Given the description of an element on the screen output the (x, y) to click on. 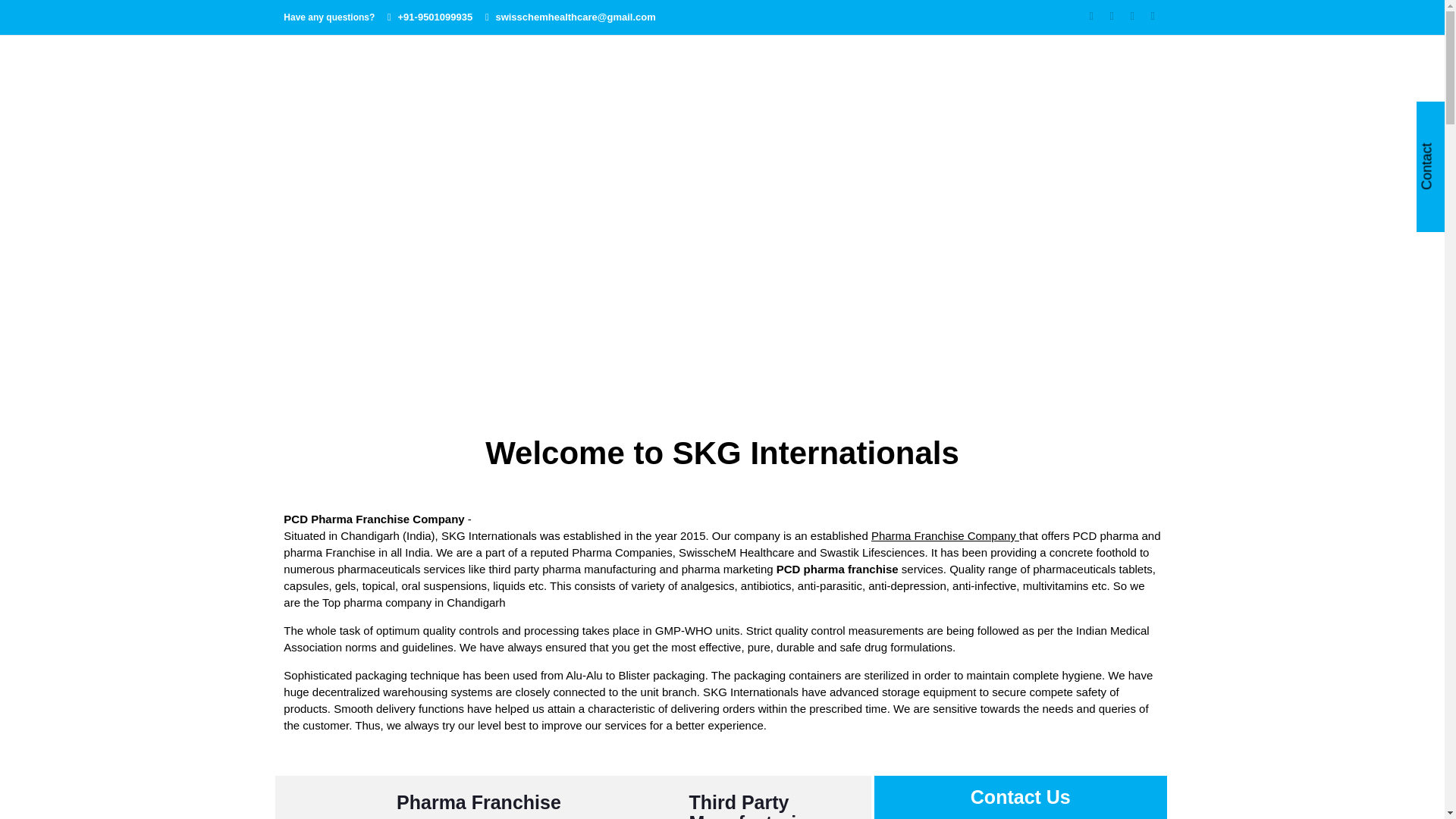
Facebook (1091, 15)
Twitter (1111, 15)
Pinterest (1152, 15)
LinkedIn (1132, 15)
